Given the description of an element on the screen output the (x, y) to click on. 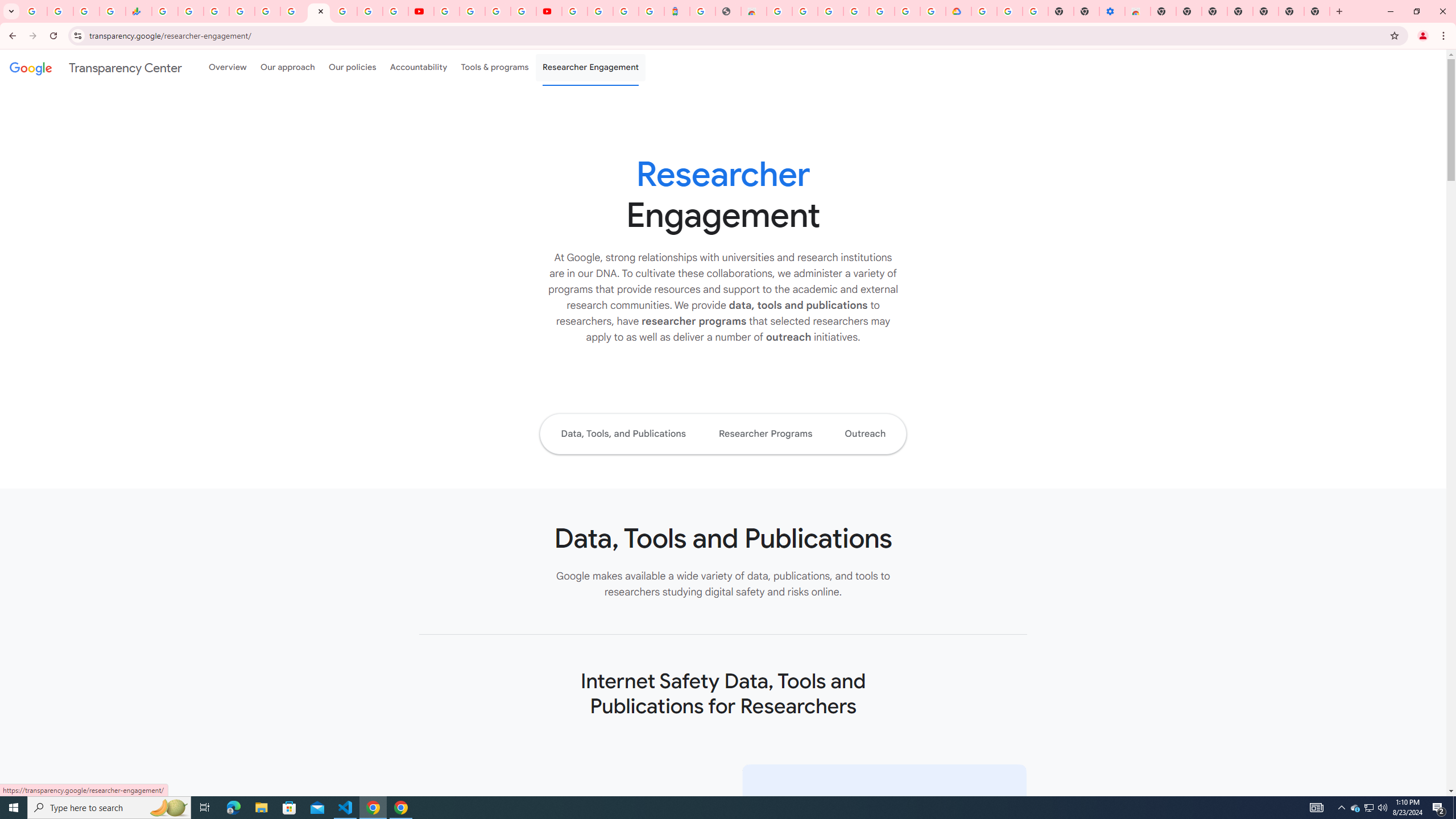
Google Account Help (1009, 11)
Atour Hotel - Google hotels (676, 11)
Ad Settings (804, 11)
Settings - Accessibility (1111, 11)
Privacy Checkup (395, 11)
Google Transparency Report (509, 800)
Outreach (865, 433)
Chrome Web Store - Household (753, 11)
Our policies (351, 67)
